Given the description of an element on the screen output the (x, y) to click on. 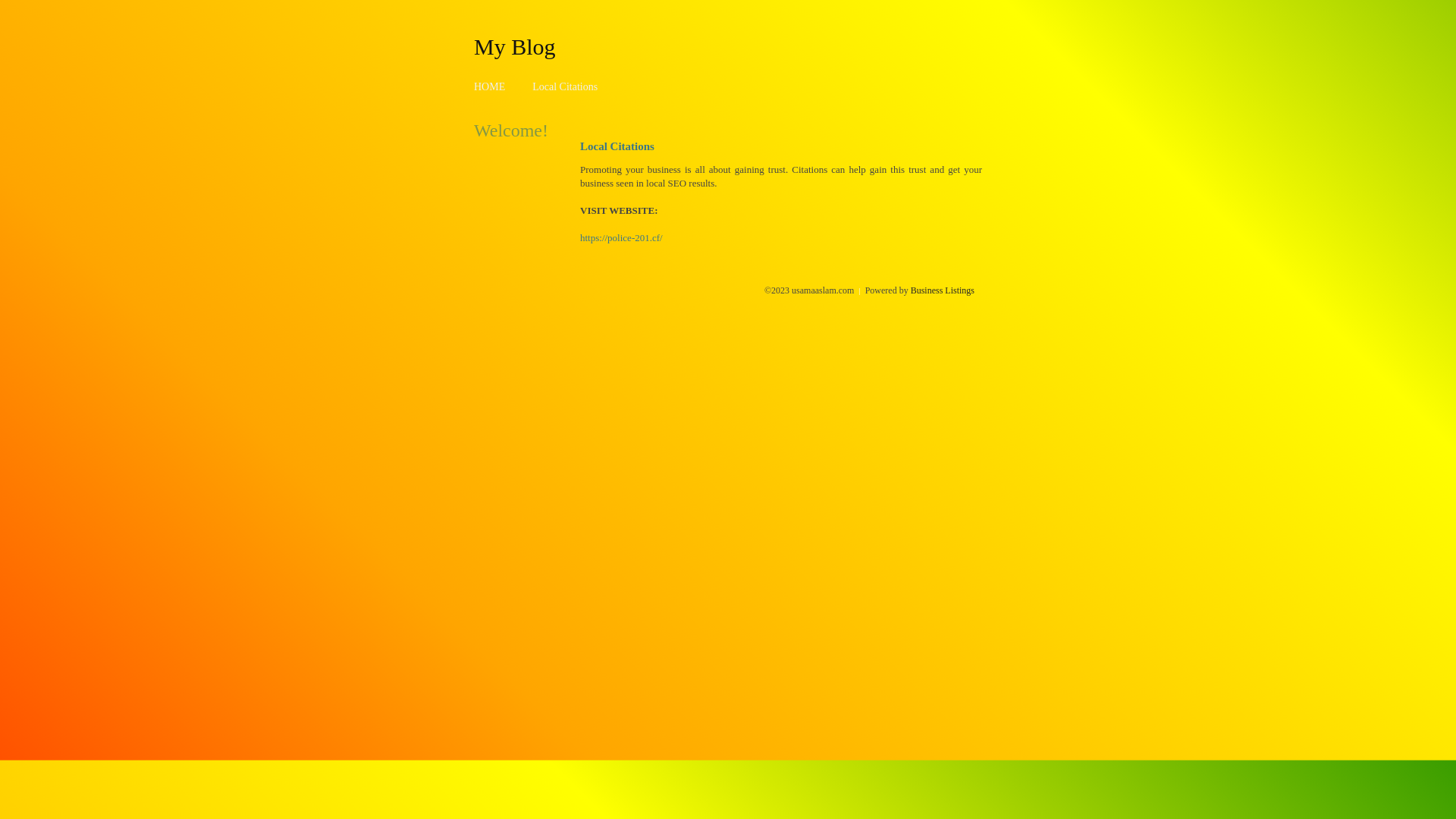
https://police-201.cf/ Element type: text (621, 237)
Local Citations Element type: text (564, 86)
My Blog Element type: text (514, 46)
Business Listings Element type: text (942, 290)
HOME Element type: text (489, 86)
